Given the description of an element on the screen output the (x, y) to click on. 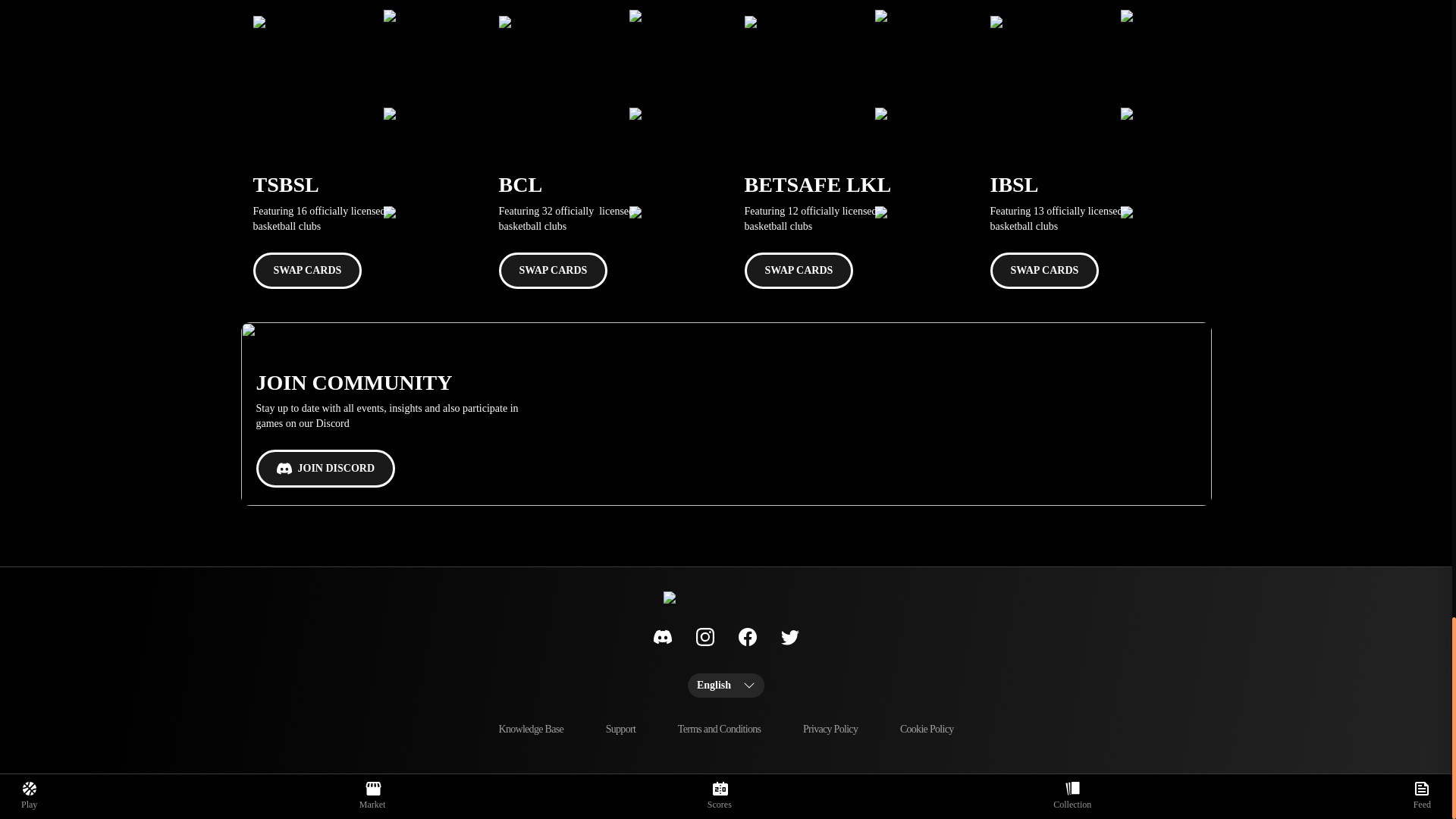
JOIN DISCORD (326, 468)
English (725, 685)
Terms and Conditions (719, 729)
SWAP CARDS (1044, 270)
Knowledge Base (531, 729)
SWAP CARDS (307, 270)
Cookie Policy (926, 729)
SWAP CARDS (553, 270)
SWAP CARDS (798, 270)
Privacy Policy (830, 729)
Support (619, 729)
